Given the description of an element on the screen output the (x, y) to click on. 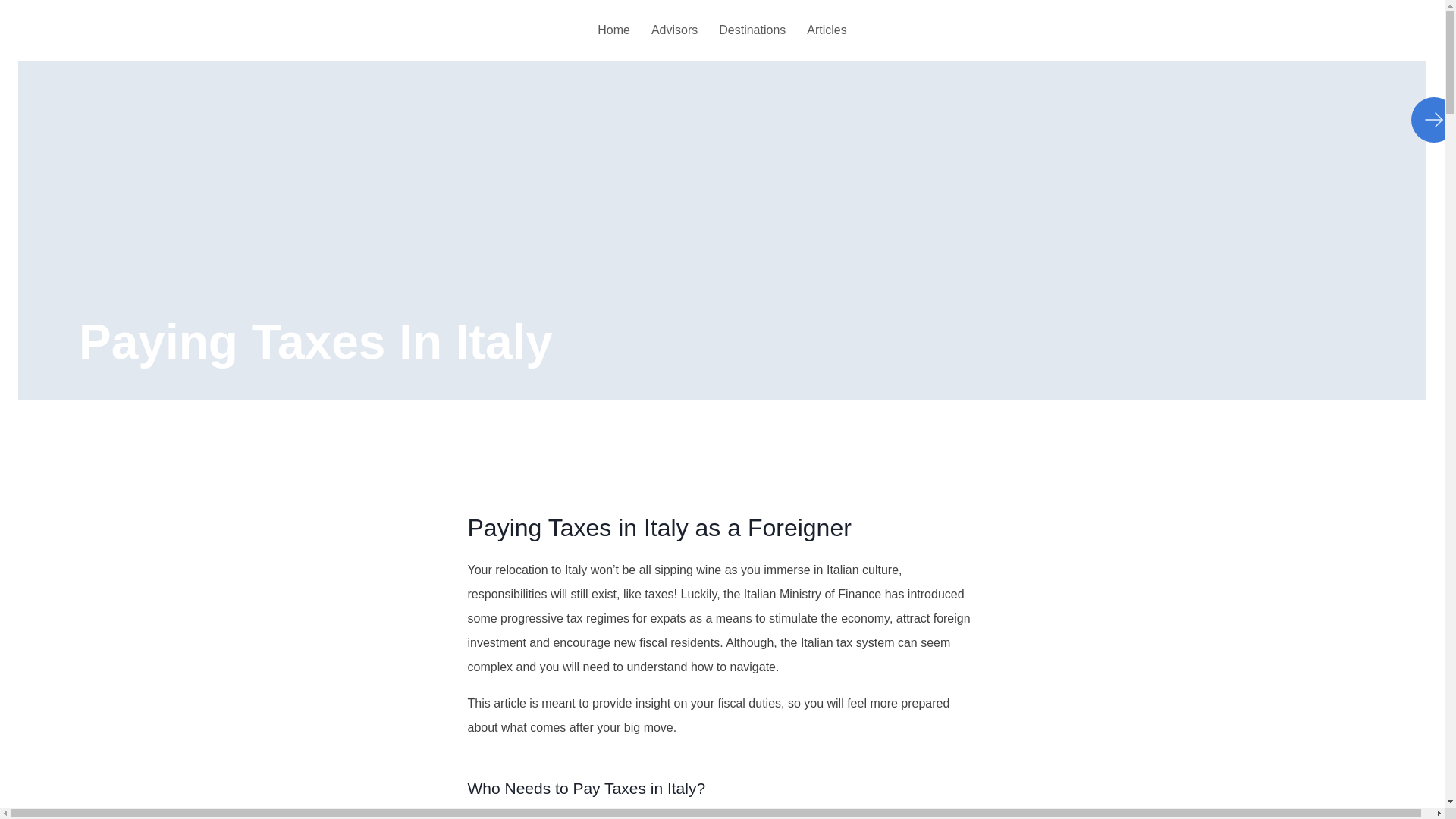
Articles (826, 29)
Advisors (673, 29)
Destinations (752, 29)
Home (613, 29)
